Given the description of an element on the screen output the (x, y) to click on. 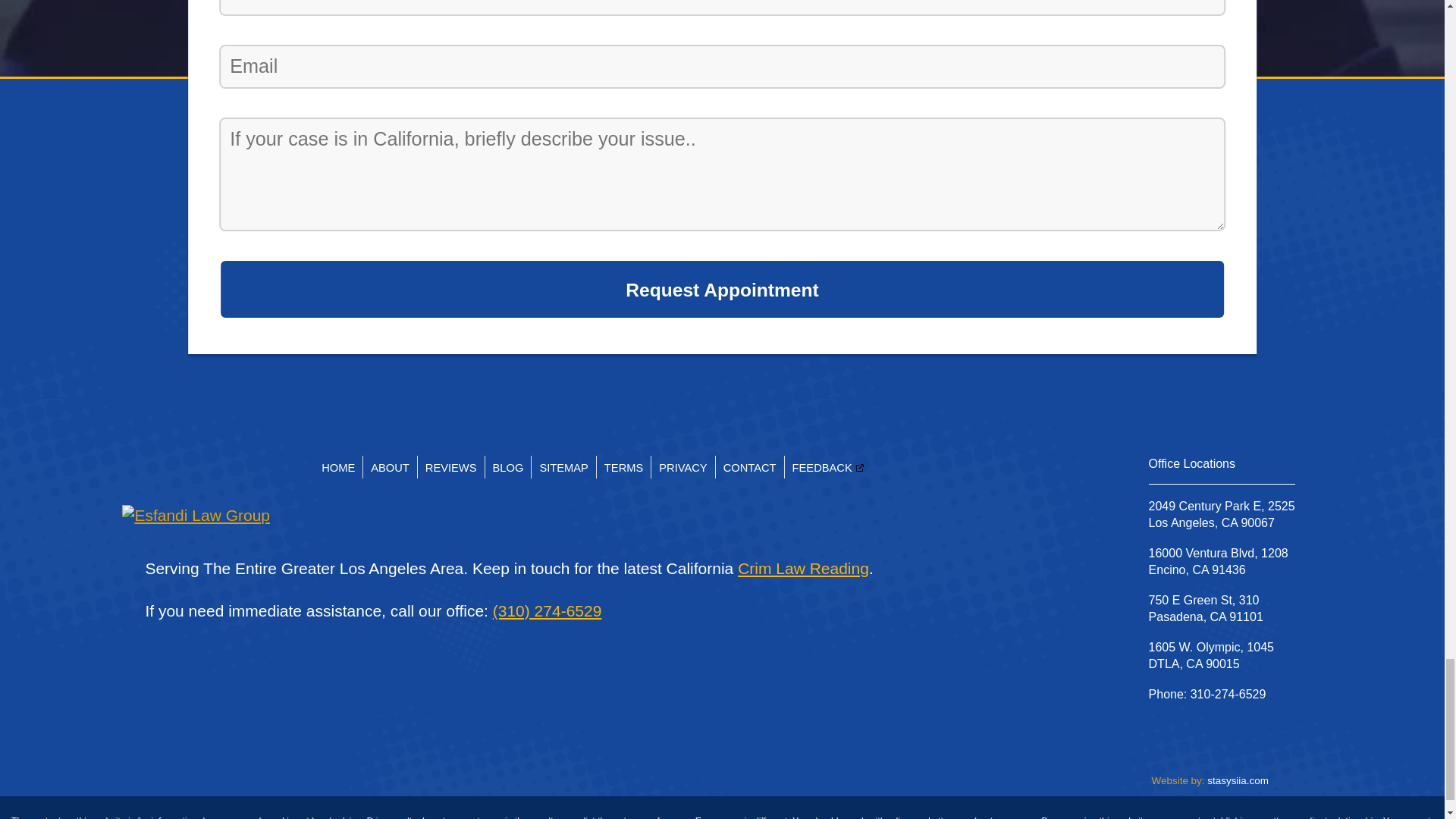
Request Appointment (722, 289)
